Given the description of an element on the screen output the (x, y) to click on. 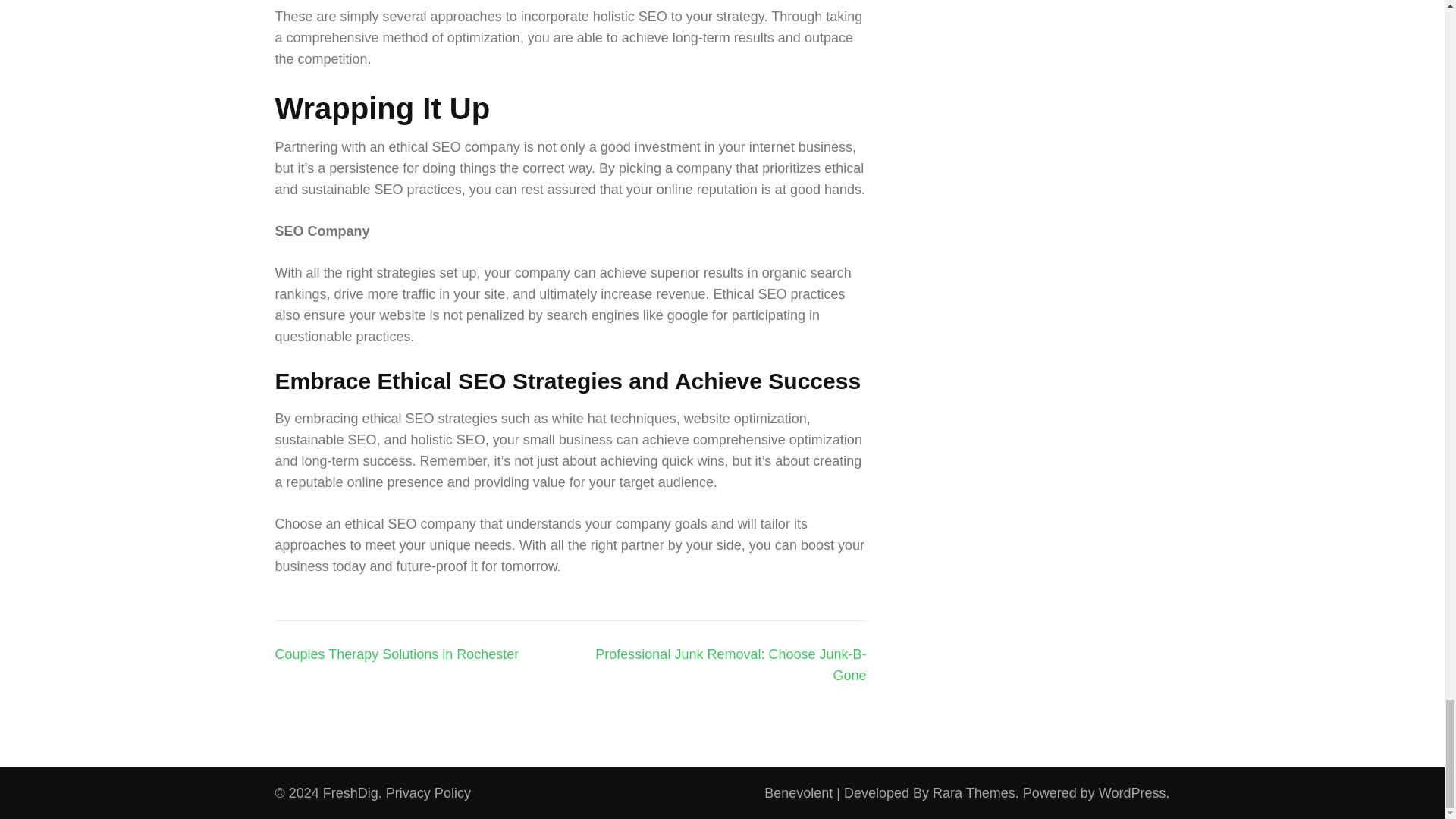
SEO Company (322, 231)
Professional Junk Removal: Choose Junk-B-Gone (730, 665)
Couples Therapy Solutions in Rochester (396, 654)
